Given the description of an element on the screen output the (x, y) to click on. 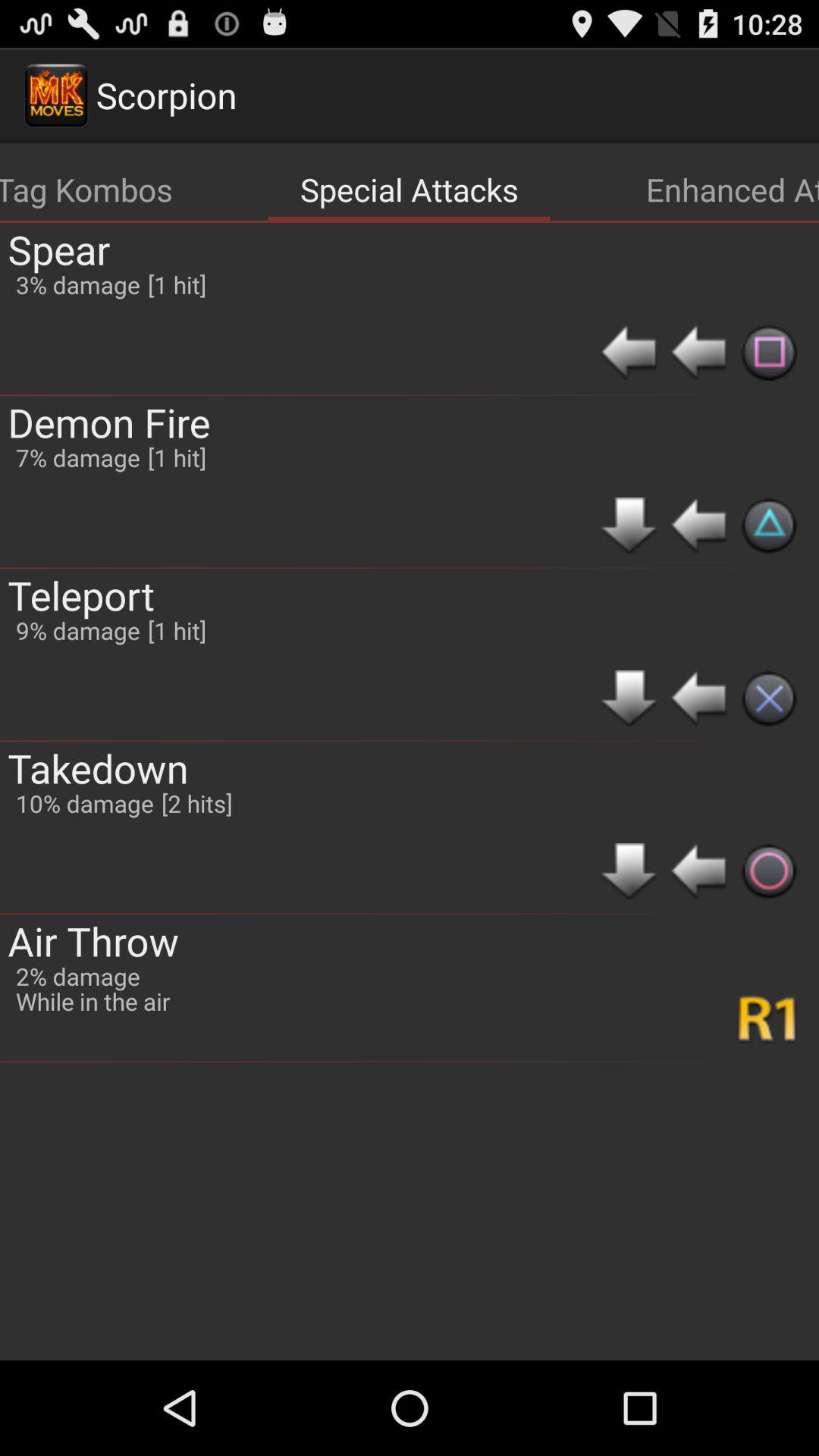
turn on the teleport item (80, 594)
